Given the description of an element on the screen output the (x, y) to click on. 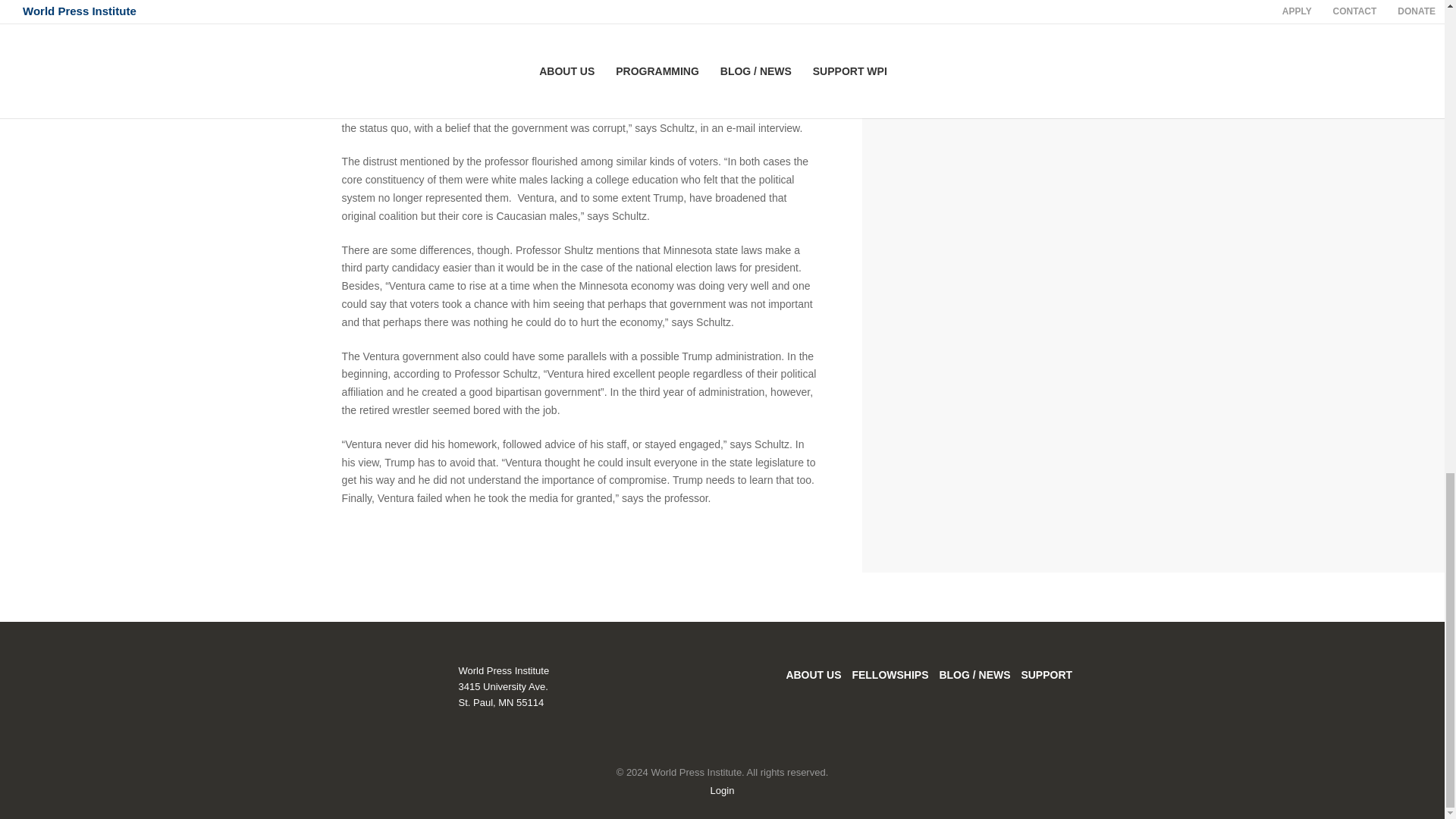
Login (722, 790)
ABOUT US (813, 674)
FELLOWSHIPS (889, 674)
